Given the description of an element on the screen output the (x, y) to click on. 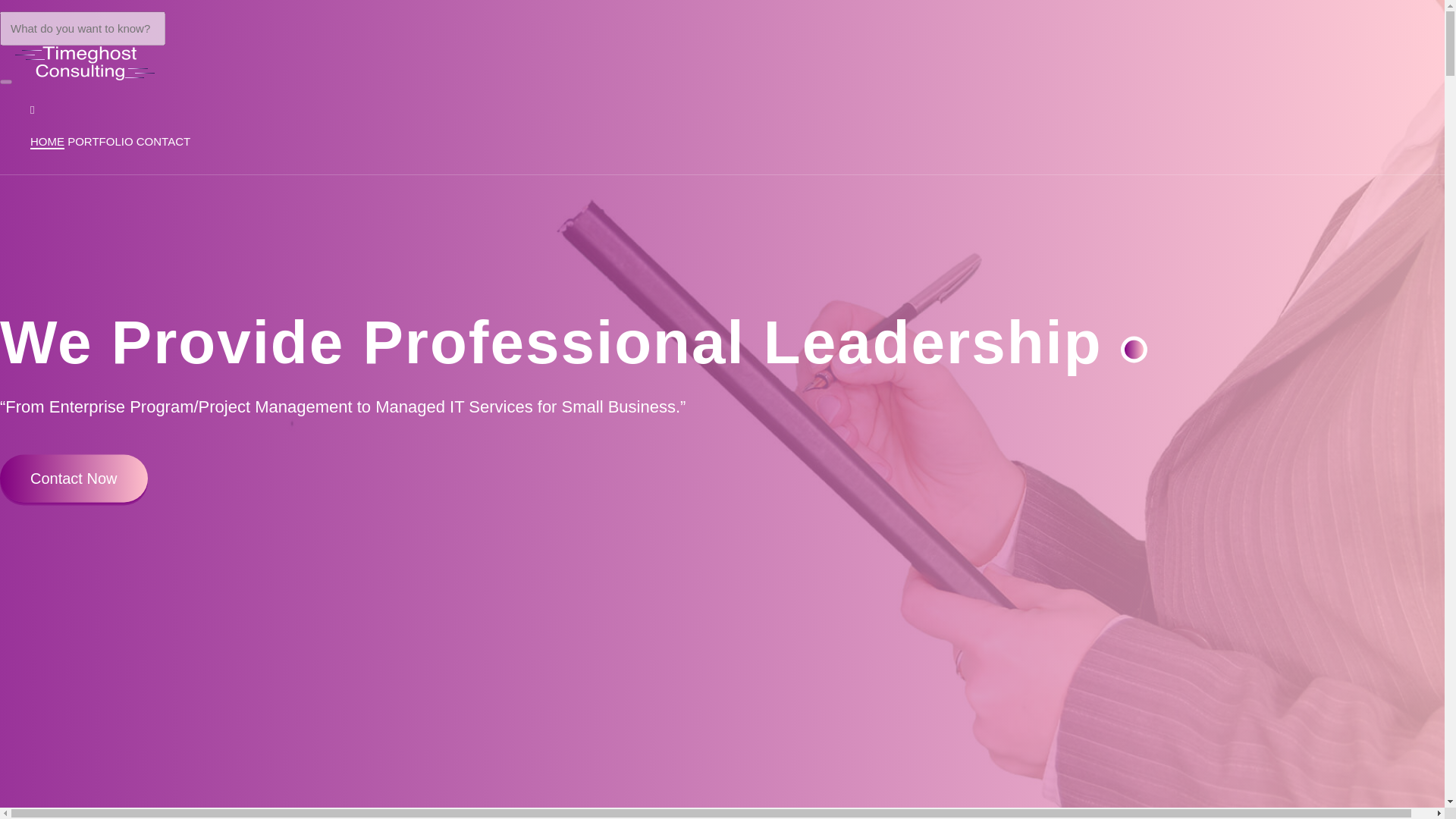
HOME (47, 142)
PORTFOLIO (99, 142)
Contact Now (74, 478)
CONTACT (163, 142)
